Given the description of an element on the screen output the (x, y) to click on. 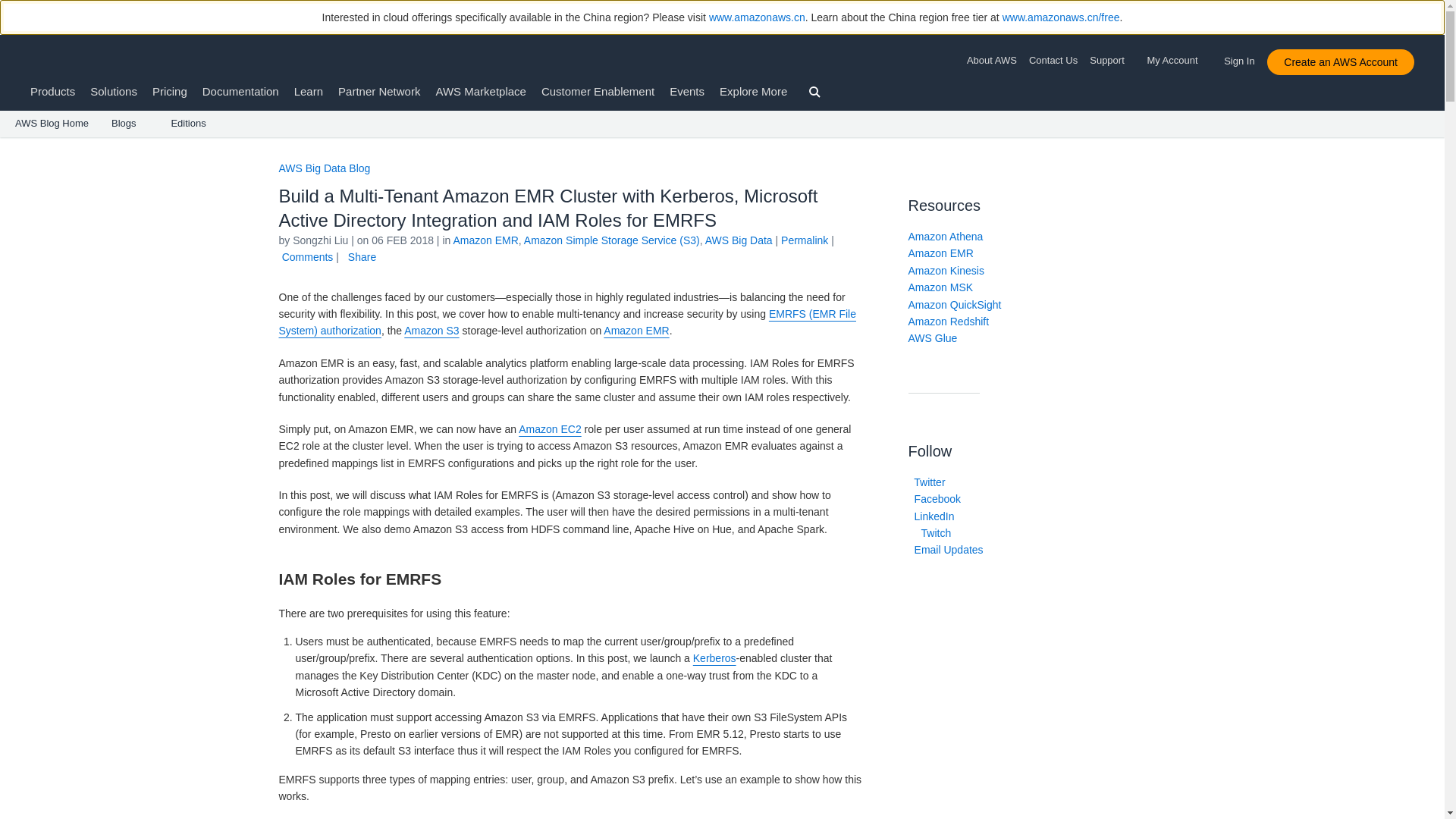
www.amazonaws.cn (757, 17)
AWS Marketplace (480, 91)
Solutions (113, 91)
Partner Network (378, 91)
Explore More (753, 91)
Contact Us (1053, 60)
View all posts in Amazon EMR (485, 240)
About AWS (994, 60)
Events (686, 91)
Click here to return to Amazon Web Services homepage (52, 61)
